Given the description of an element on the screen output the (x, y) to click on. 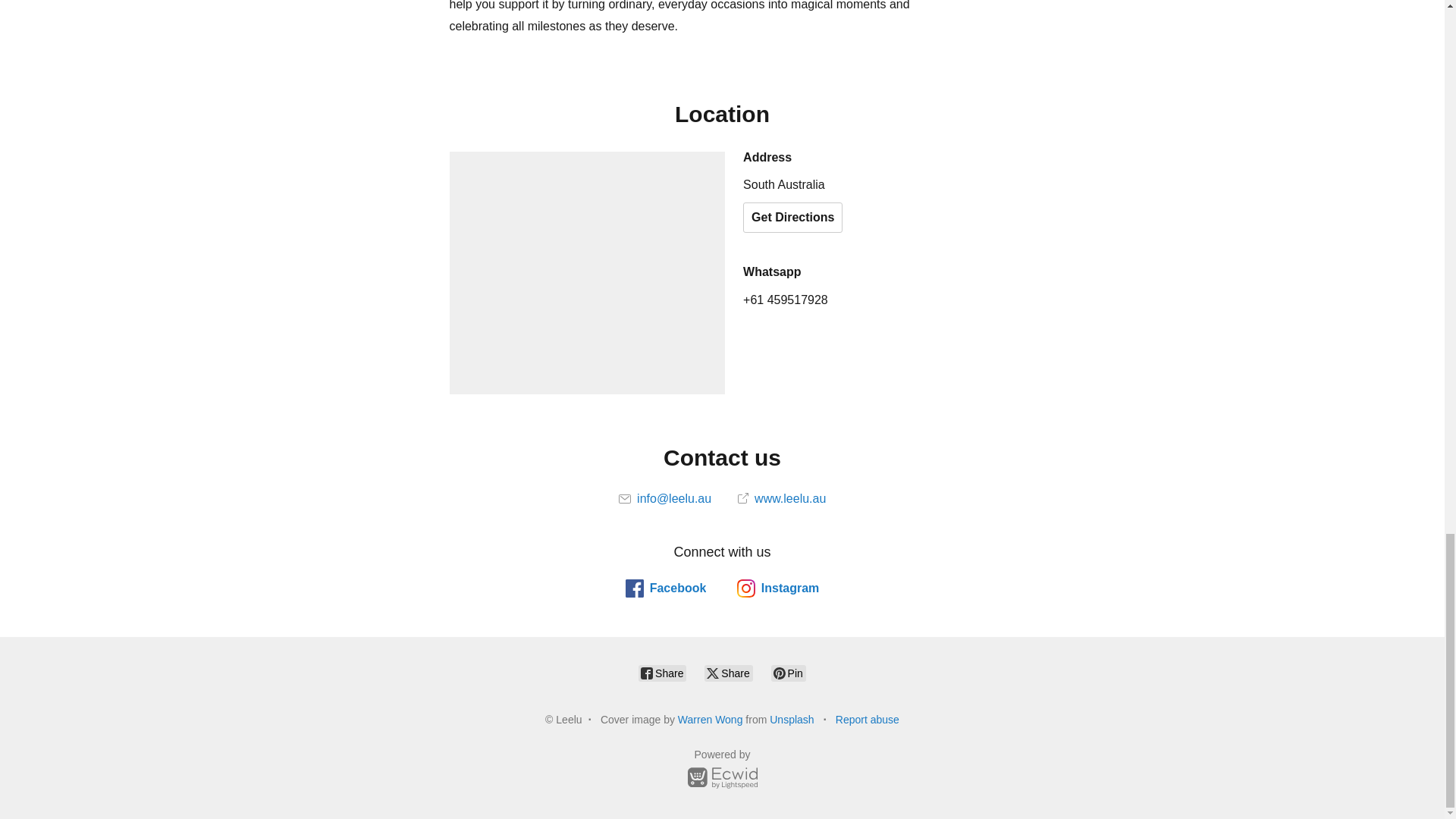
Report abuse (867, 719)
Location on map (586, 272)
Pin (788, 673)
Powered by (722, 771)
Instagram (777, 588)
Unsplash (791, 719)
Share (728, 673)
www.leelu.au (782, 498)
Share (662, 673)
Facebook (666, 588)
